Given the description of an element on the screen output the (x, y) to click on. 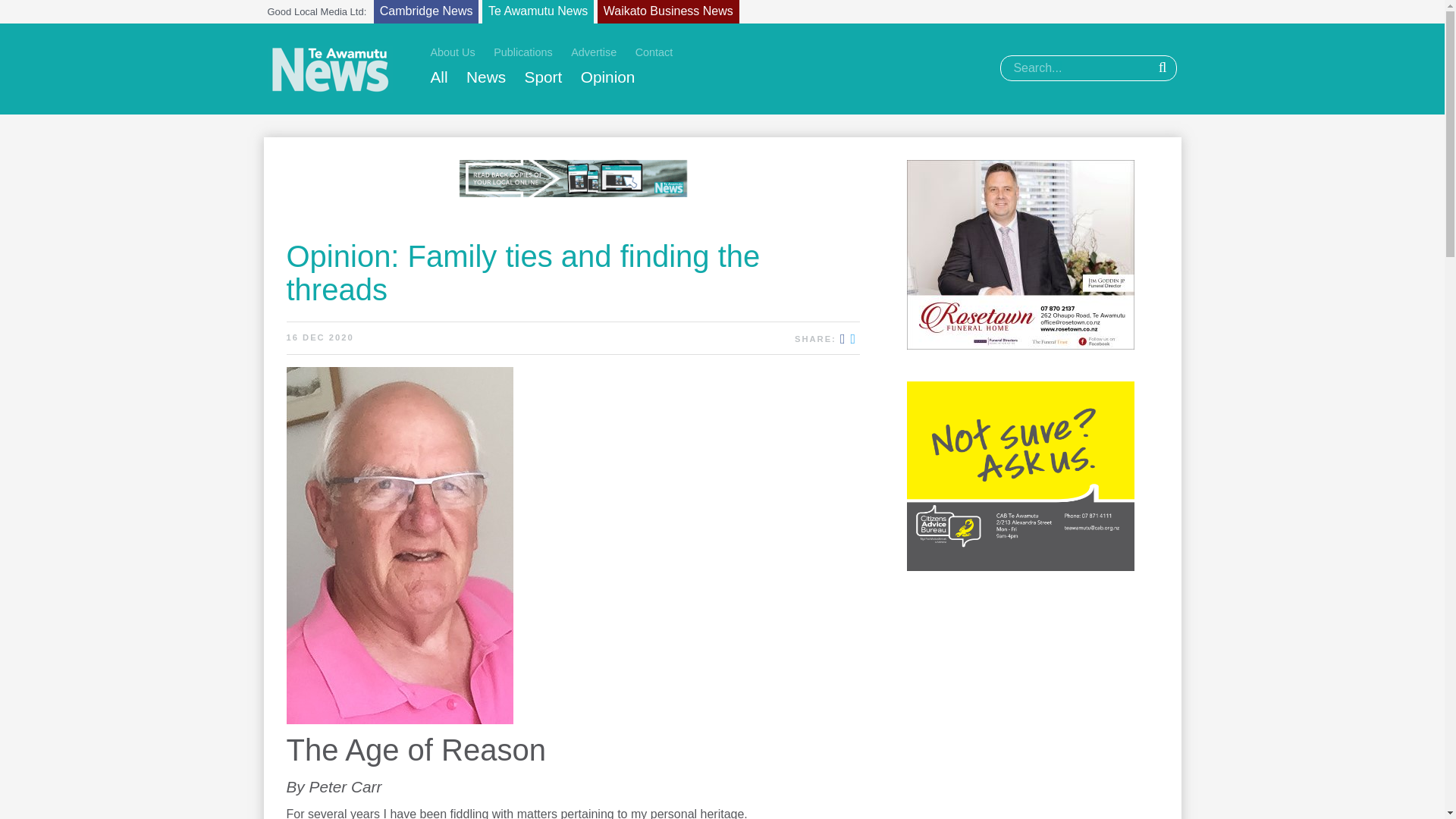
Opinion (607, 76)
Te Awamutu News (537, 11)
About Us (453, 51)
News (485, 76)
Contact (653, 51)
Cambridge News (426, 11)
Waikato Business News (667, 11)
All (439, 76)
Advertise (592, 51)
Publications (523, 51)
Sport (543, 76)
